Given the description of an element on the screen output the (x, y) to click on. 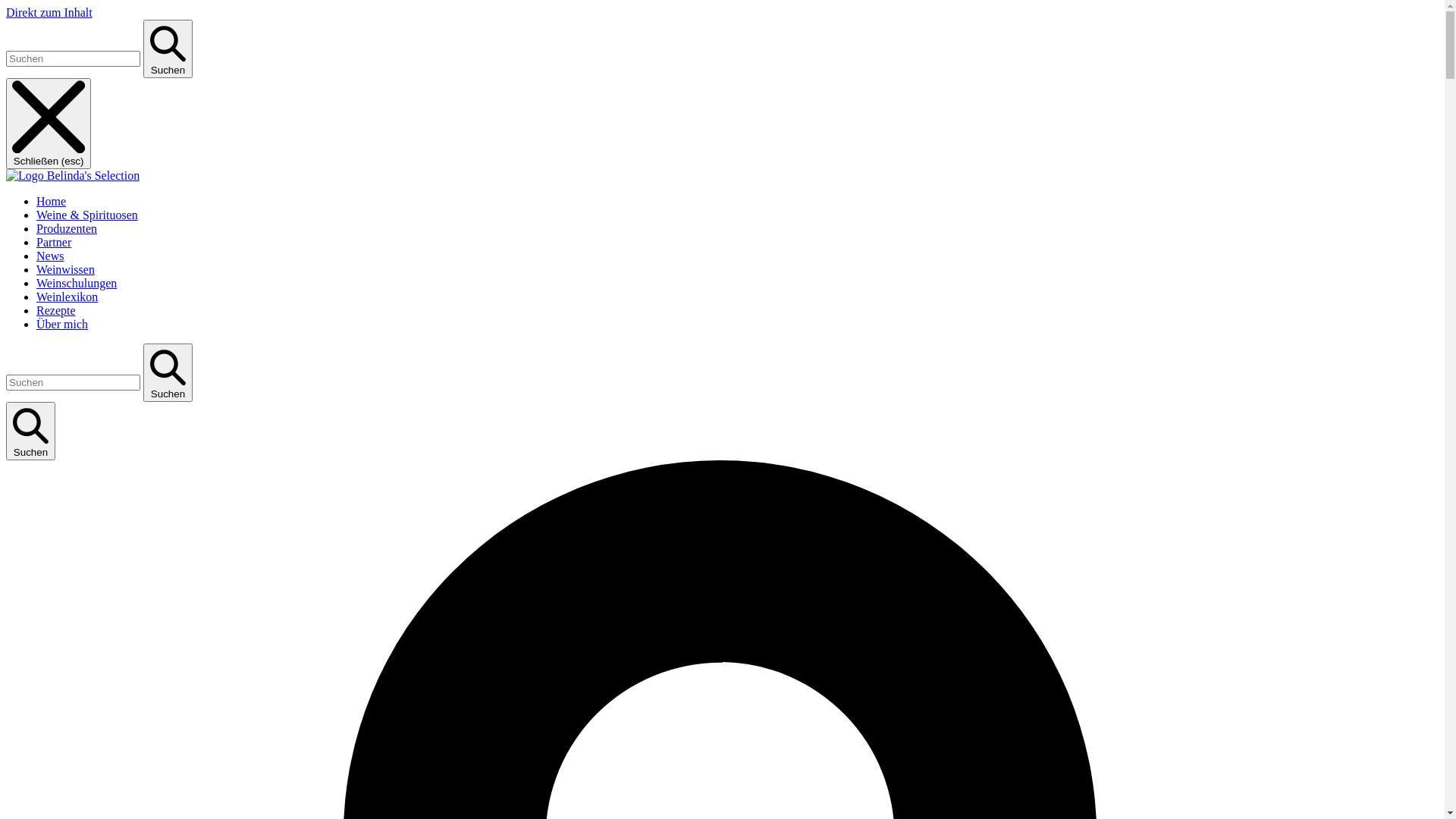
Home Element type: text (50, 200)
News Element type: text (49, 255)
Rezepte Element type: text (55, 310)
Weinlexikon Element type: text (66, 296)
Suchen Element type: text (167, 372)
Suchen Element type: text (167, 48)
Weinwissen Element type: text (65, 269)
Produzenten Element type: text (66, 228)
Weinschulungen Element type: text (76, 282)
Weine & Spirituosen Element type: text (87, 214)
Partner Element type: text (53, 241)
Suchen Element type: text (30, 430)
Direkt zum Inhalt Element type: text (49, 12)
